Given the description of an element on the screen output the (x, y) to click on. 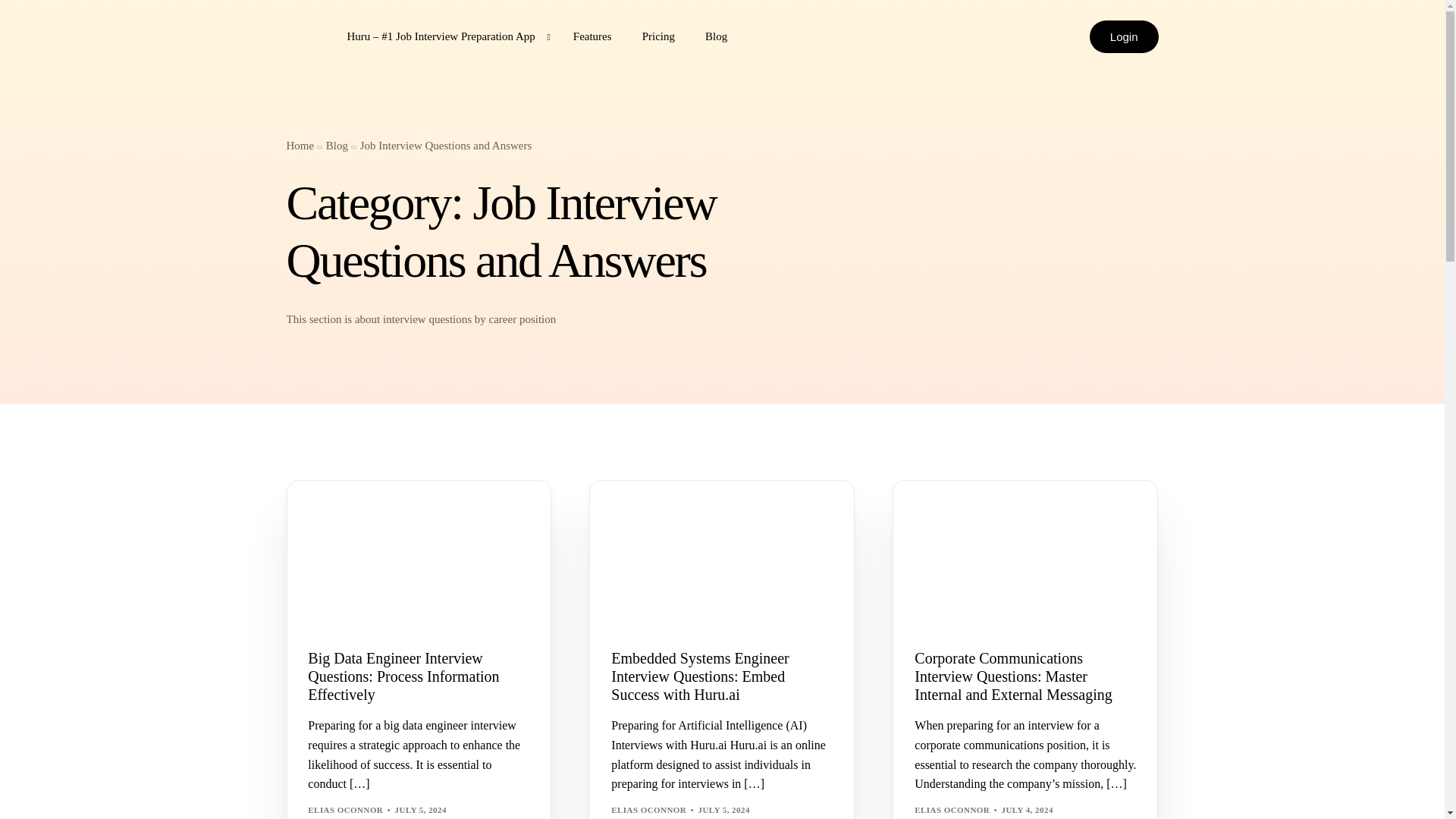
Posts by Elias Oconnor (344, 809)
Posts by Elias Oconnor (648, 809)
Posts by Elias Oconnor (952, 809)
Login (1123, 36)
Job Interview Questions and Answers (445, 145)
Blog (336, 145)
Home (300, 145)
Features (592, 36)
ELIAS OCONNOR (648, 809)
